Given the description of an element on the screen output the (x, y) to click on. 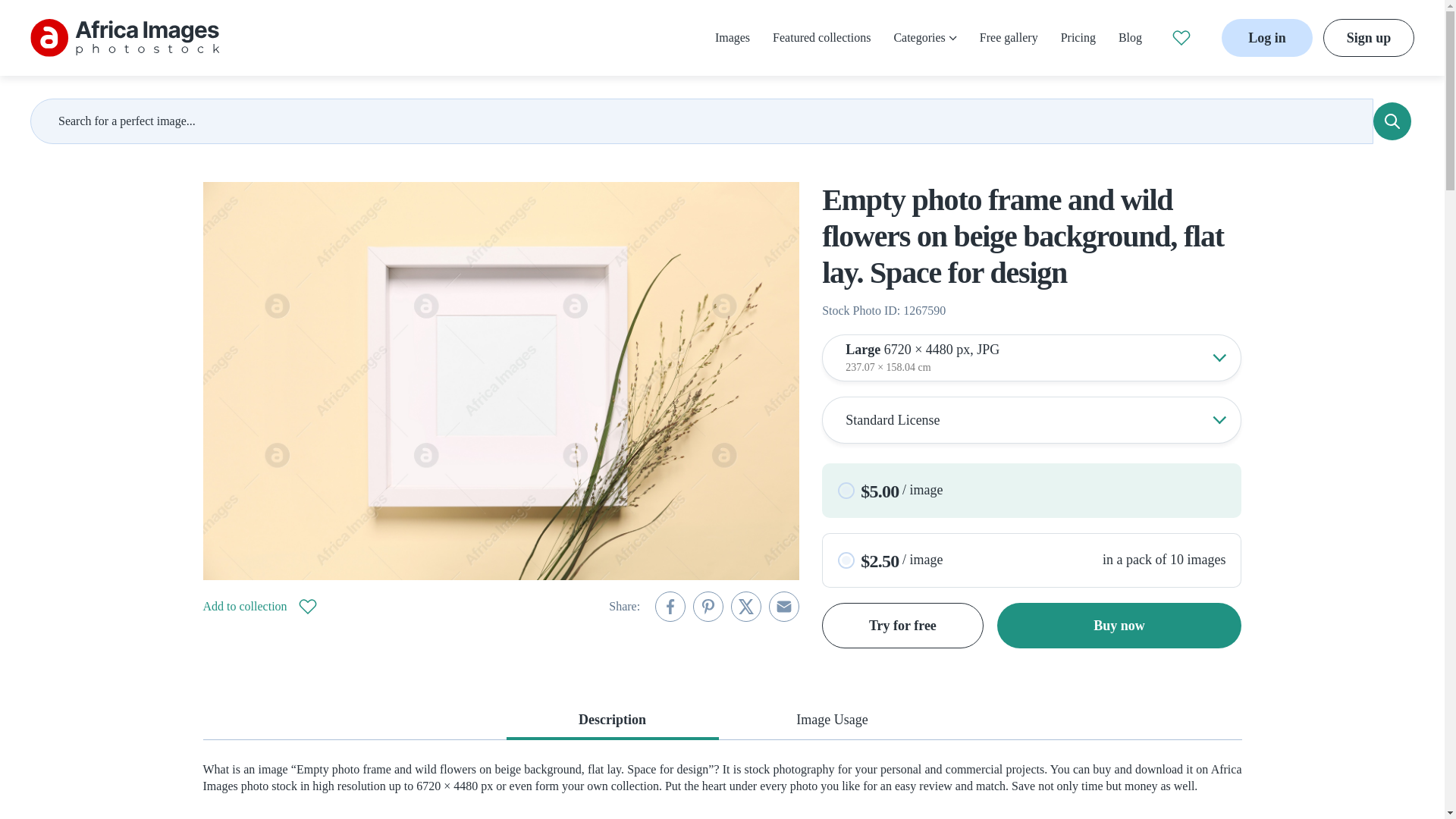
Log in (1267, 37)
Images (731, 38)
Try for free (902, 625)
Categories (924, 38)
Free gallery (1008, 38)
Sign up (1368, 37)
Buy now (1119, 625)
Featured collections (821, 38)
Pricing (1078, 38)
